Given the description of an element on the screen output the (x, y) to click on. 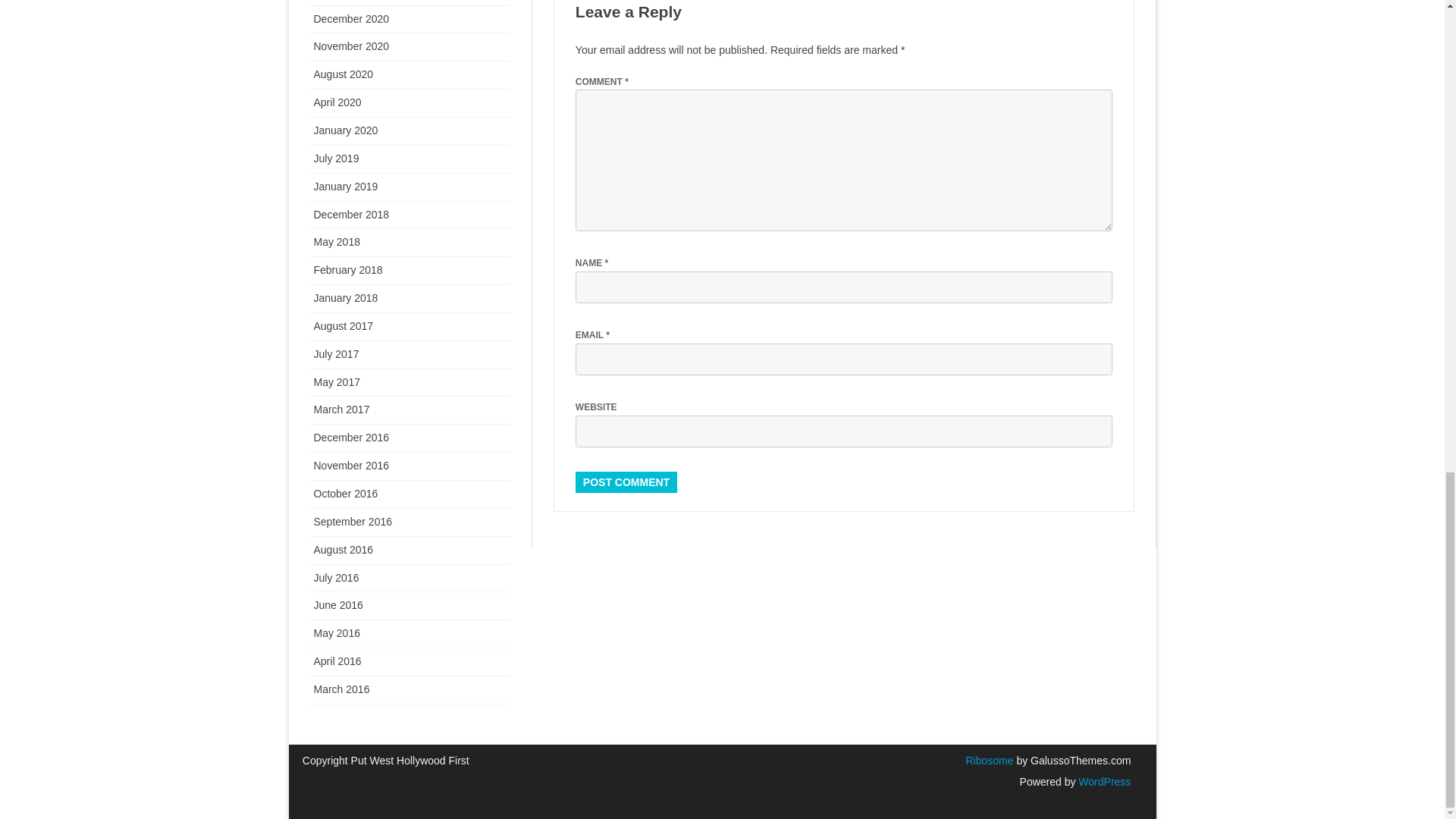
Post Comment (626, 482)
Post Comment (626, 482)
